Given the description of an element on the screen output the (x, y) to click on. 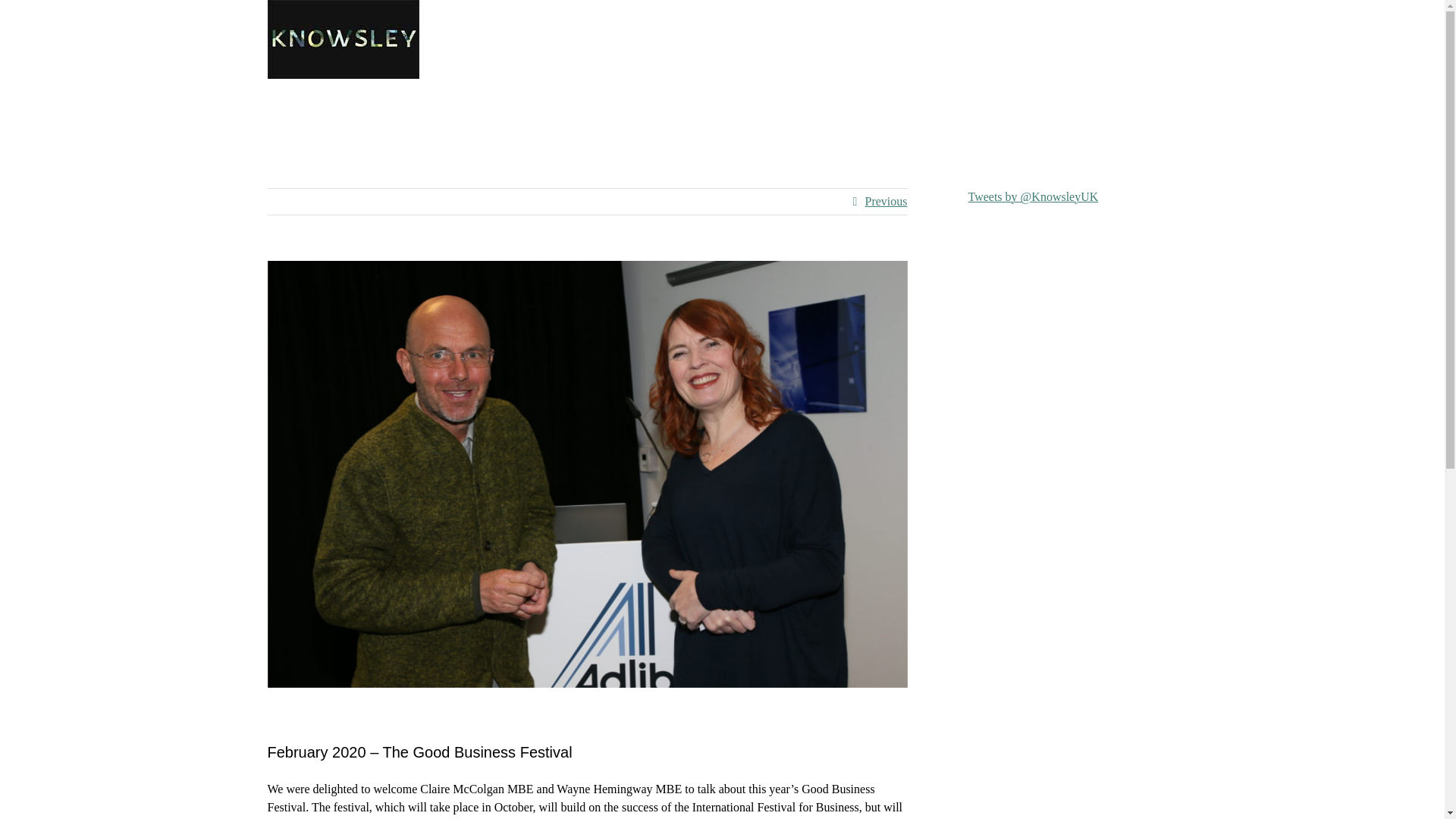
Previous (885, 201)
About Knowsley (446, 118)
Knowsley Ambassadors (785, 118)
